Given the description of an element on the screen output the (x, y) to click on. 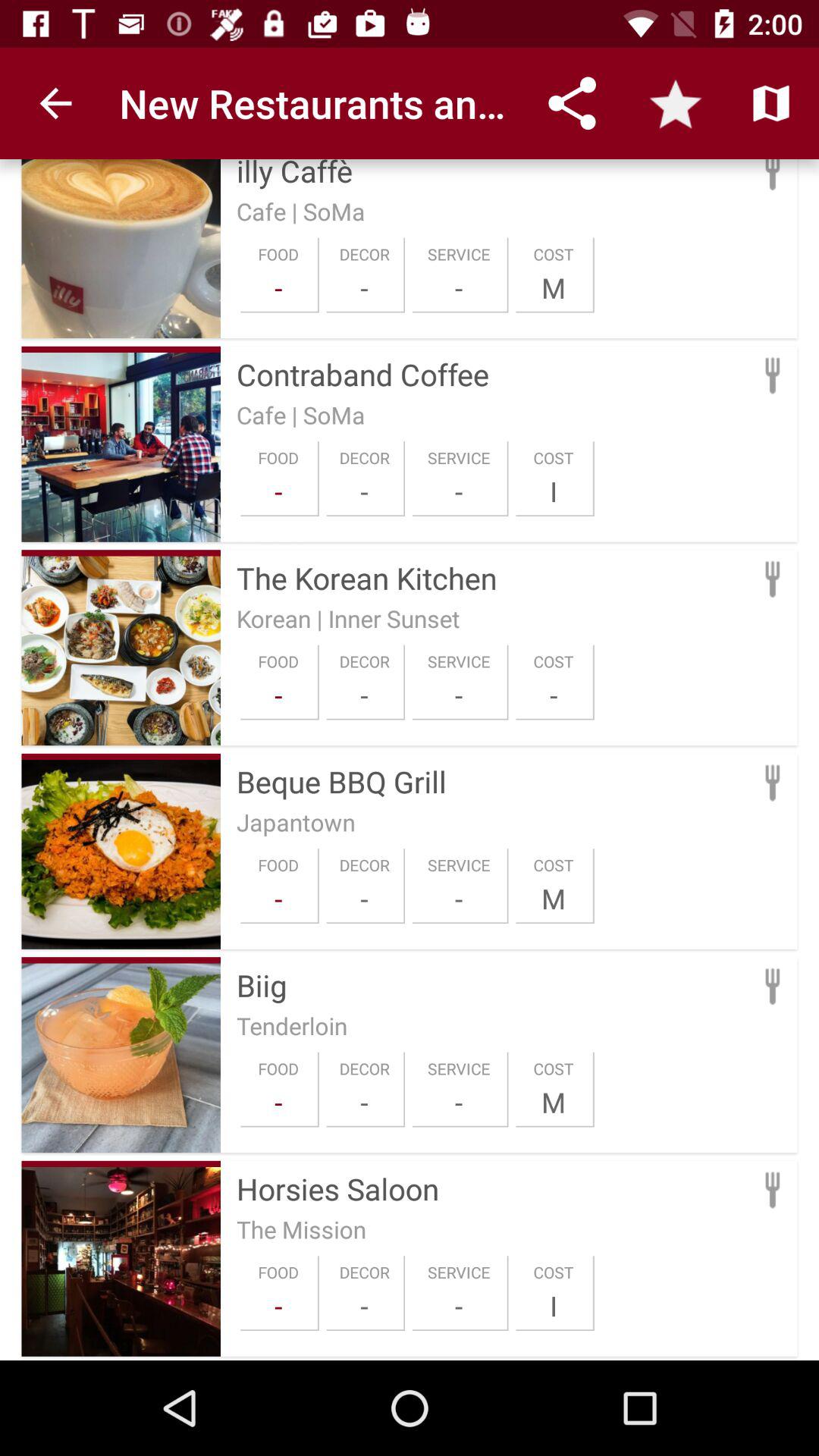
select the icon to the left of cost (458, 491)
